Given the description of an element on the screen output the (x, y) to click on. 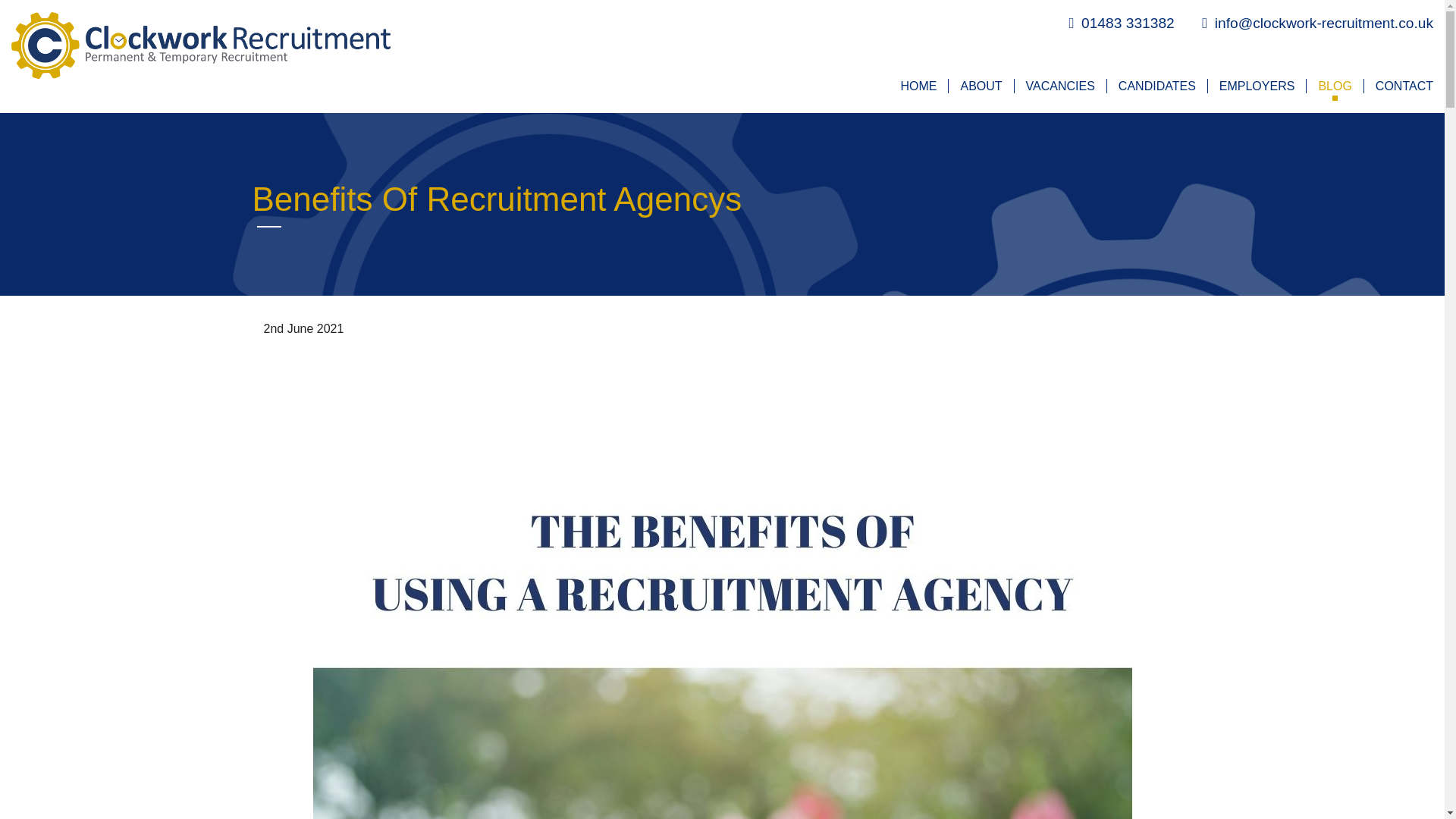
EMPLOYERS (1256, 85)
BLOG (1334, 85)
CONTACT (1397, 85)
ABOUT (980, 85)
Home (200, 43)
01483 331382 (1120, 23)
CANDIDATES (1156, 85)
VACANCIES (1059, 85)
HOME (917, 85)
